Given the description of an element on the screen output the (x, y) to click on. 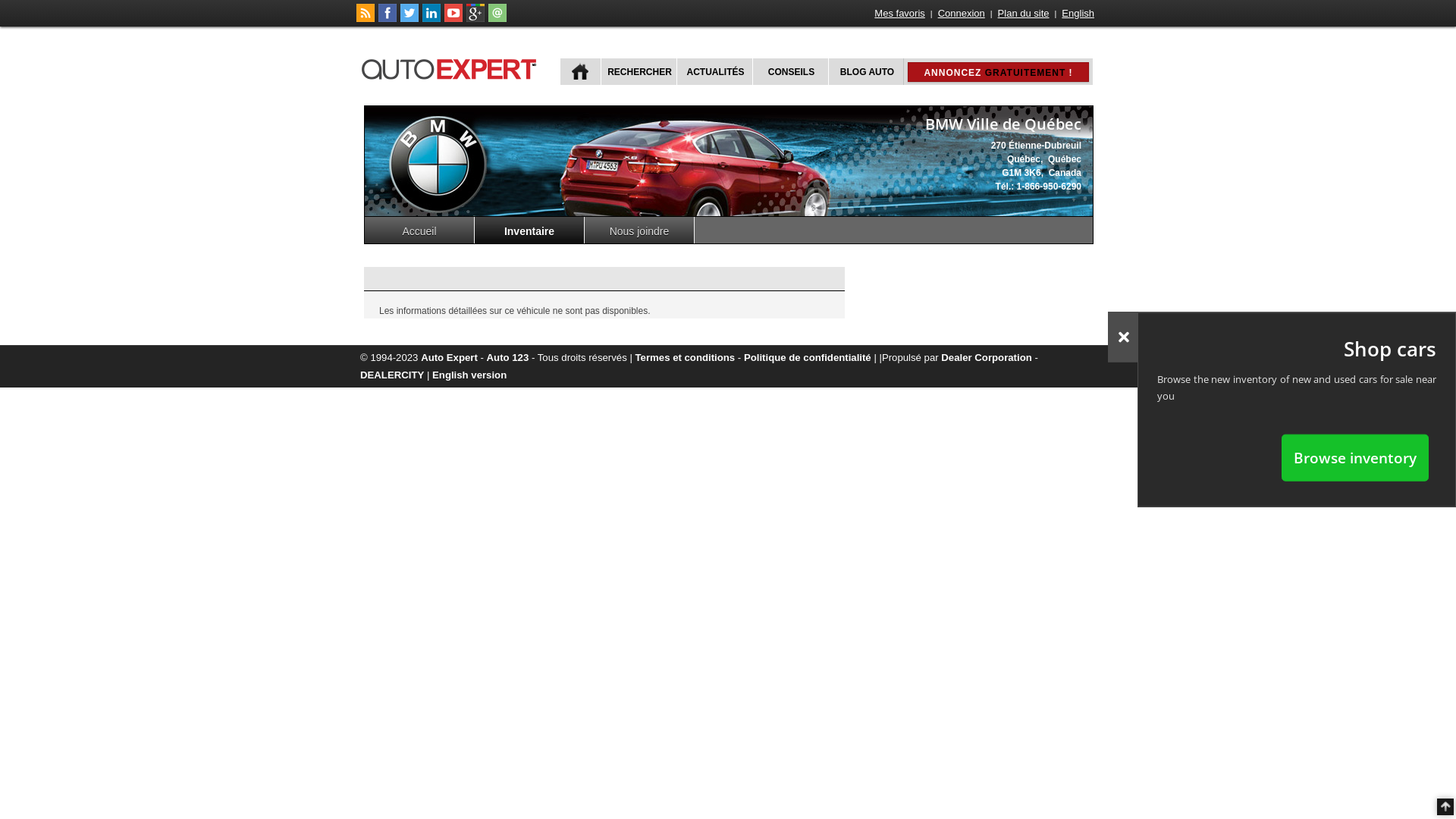
Suivez autoExpert.ca sur Twitter Element type: hover (409, 18)
Nous joindre Element type: text (639, 229)
ANNONCEZ GRATUITEMENT ! Element type: text (997, 71)
Auto Expert Element type: text (448, 357)
Plan du site Element type: text (1023, 13)
English version Element type: text (469, 374)
Accueil Element type: text (419, 229)
Suivez Publications Le Guide Inc. sur LinkedIn Element type: hover (431, 18)
Browse inventory Element type: text (1354, 457)
Inventaire Element type: text (529, 229)
DEALERCITY Element type: text (391, 374)
Mes favoris Element type: text (898, 13)
Suivez autoExpert.ca sur Youtube Element type: hover (453, 18)
RECHERCHER Element type: text (637, 71)
Suivez autoExpert.ca sur Facebook Element type: hover (387, 18)
Connexion Element type: text (961, 13)
Termes et conditions Element type: text (685, 357)
Dealer Corporation Element type: text (986, 357)
English Element type: text (1077, 13)
Joindre autoExpert.ca Element type: hover (497, 18)
autoExpert.ca Element type: text (451, 66)
ACCUEIL Element type: text (580, 71)
Auto 123 Element type: text (507, 357)
CONSEILS Element type: text (789, 71)
Suivez autoExpert.ca sur Google Plus Element type: hover (475, 18)
BLOG AUTO Element type: text (865, 71)
